Given the description of an element on the screen output the (x, y) to click on. 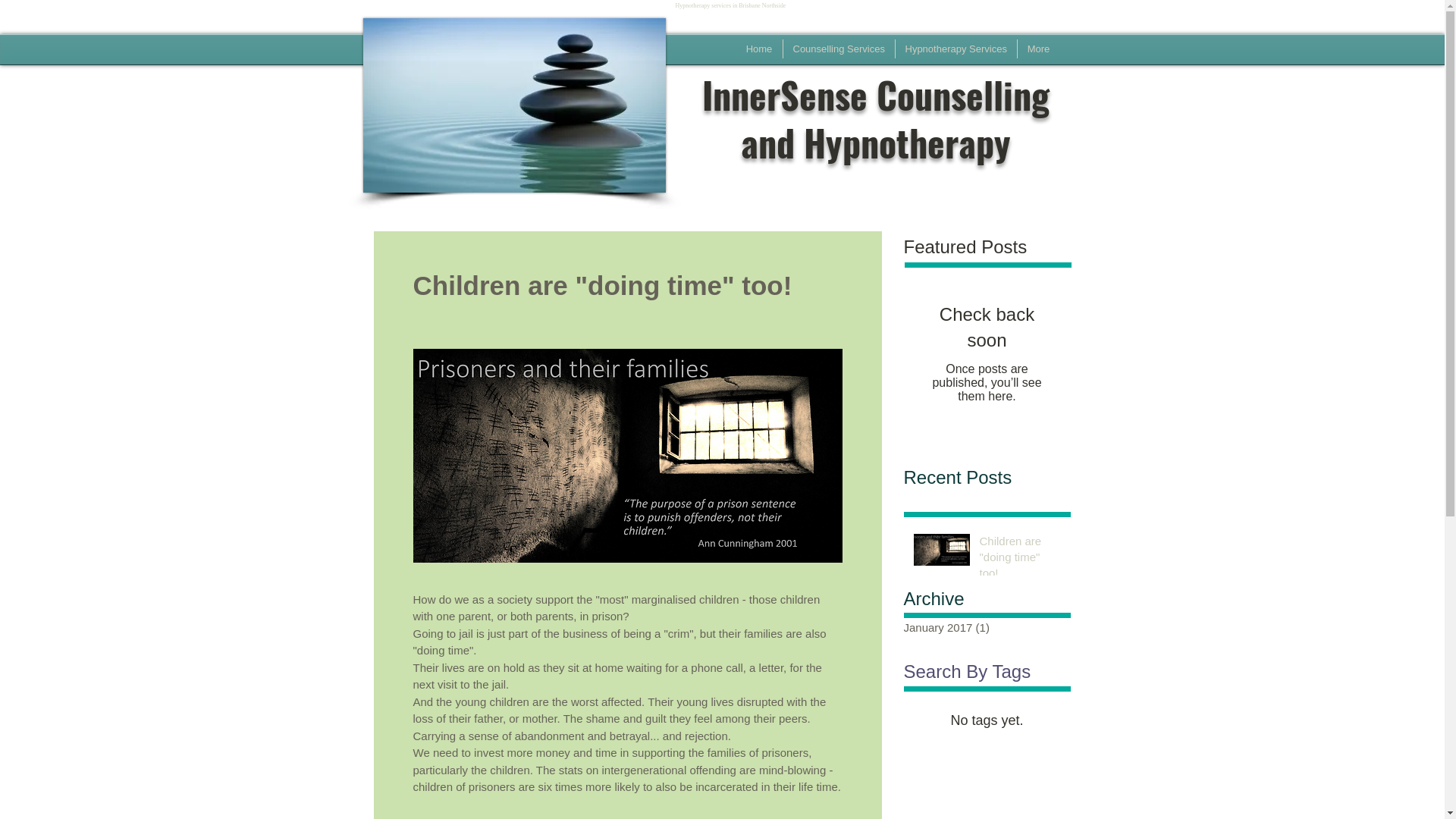
Children are "doing time" too! Element type: text (1020, 559)
Counselling Services Element type: text (838, 48)
January 2017 (1) Element type: text (983, 628)
Home Element type: text (758, 48)
InnerSense Hypnotherapy Balance Element type: hover (513, 105)
Hypnotherapy Services Element type: text (955, 48)
